Given the description of an element on the screen output the (x, y) to click on. 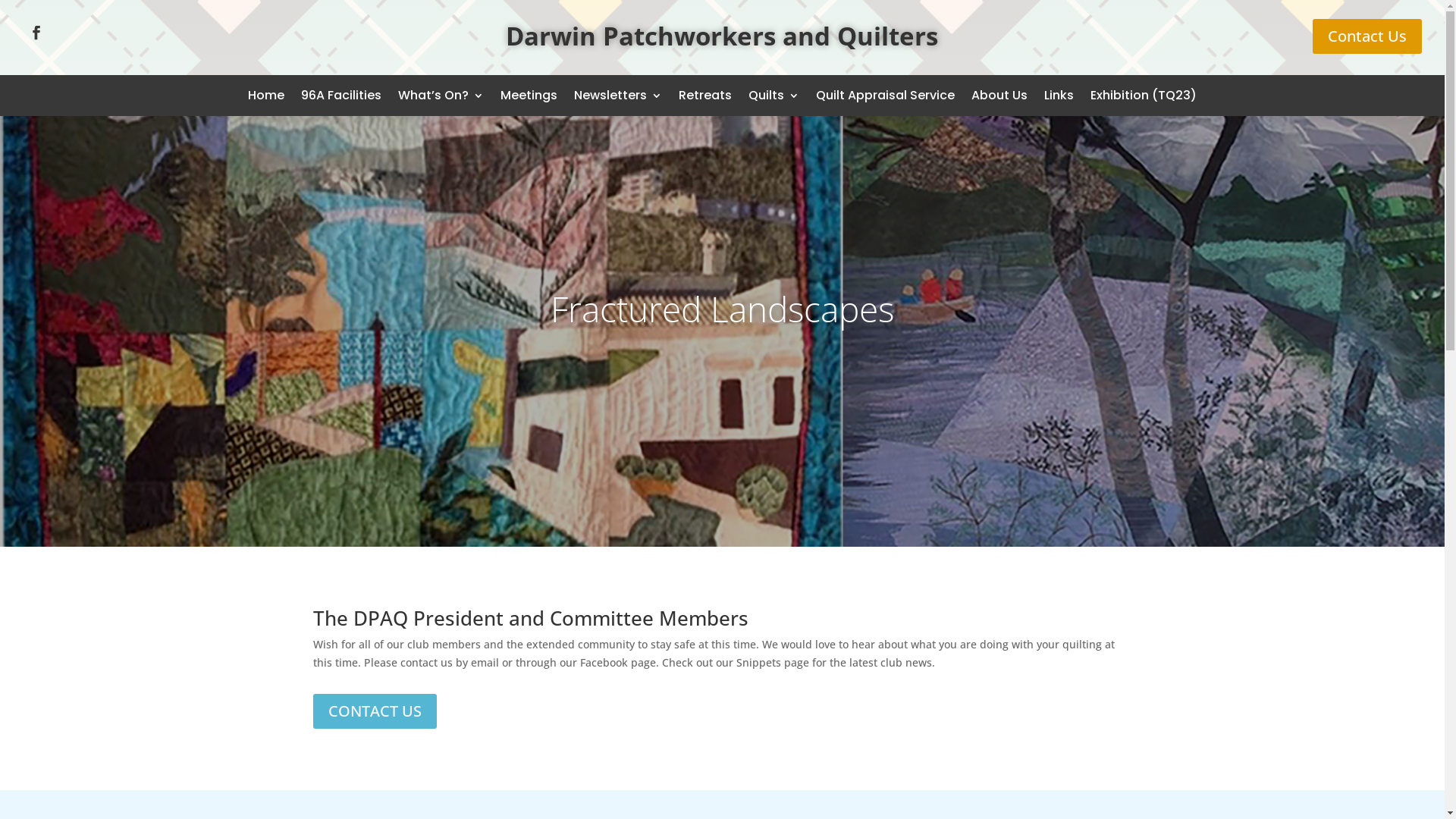
Contact Us Element type: text (1366, 35)
Meetings Element type: text (528, 95)
Links Element type: text (1058, 95)
About Us Element type: text (999, 95)
Quilt Appraisal Service Element type: text (884, 95)
Home Element type: text (265, 95)
Retreats Element type: text (704, 95)
Exhibition (TQ23) Element type: text (1143, 95)
Fractured Landscapes Element type: text (722, 308)
Newsletters Element type: text (618, 95)
96A Facilities Element type: text (341, 95)
CONTACT US Element type: text (374, 710)
Quilts Element type: text (773, 95)
Follow on Facebook Element type: hover (36, 32)
